Given the description of an element on the screen output the (x, y) to click on. 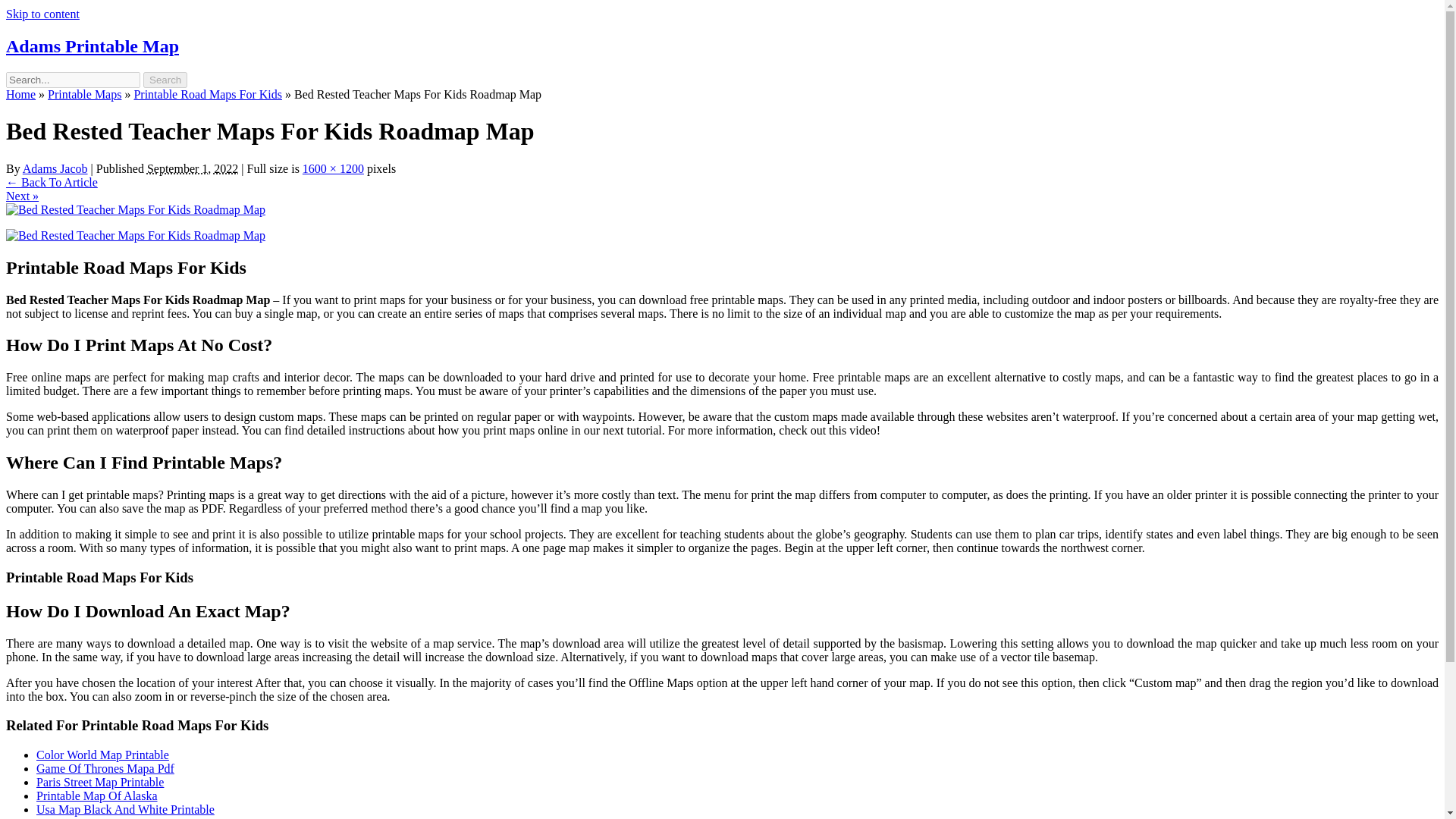
Adams Jacob (55, 168)
Link to full-size image (333, 168)
1:01 am (192, 168)
Printable Road Maps For Kids (207, 93)
Search (164, 79)
Usa Map Black And White Printable (125, 809)
Search (164, 79)
Printable Maps (84, 93)
Adams Printable Map (92, 46)
Color World Map Printable (102, 754)
Bed Rested Teacher Maps For Kids Roadmap Map (134, 209)
View all posts by Adams Jacob (55, 168)
Search (164, 79)
Skip to content (42, 13)
Game Of Thrones Mapa Pdf (105, 768)
